Given the description of an element on the screen output the (x, y) to click on. 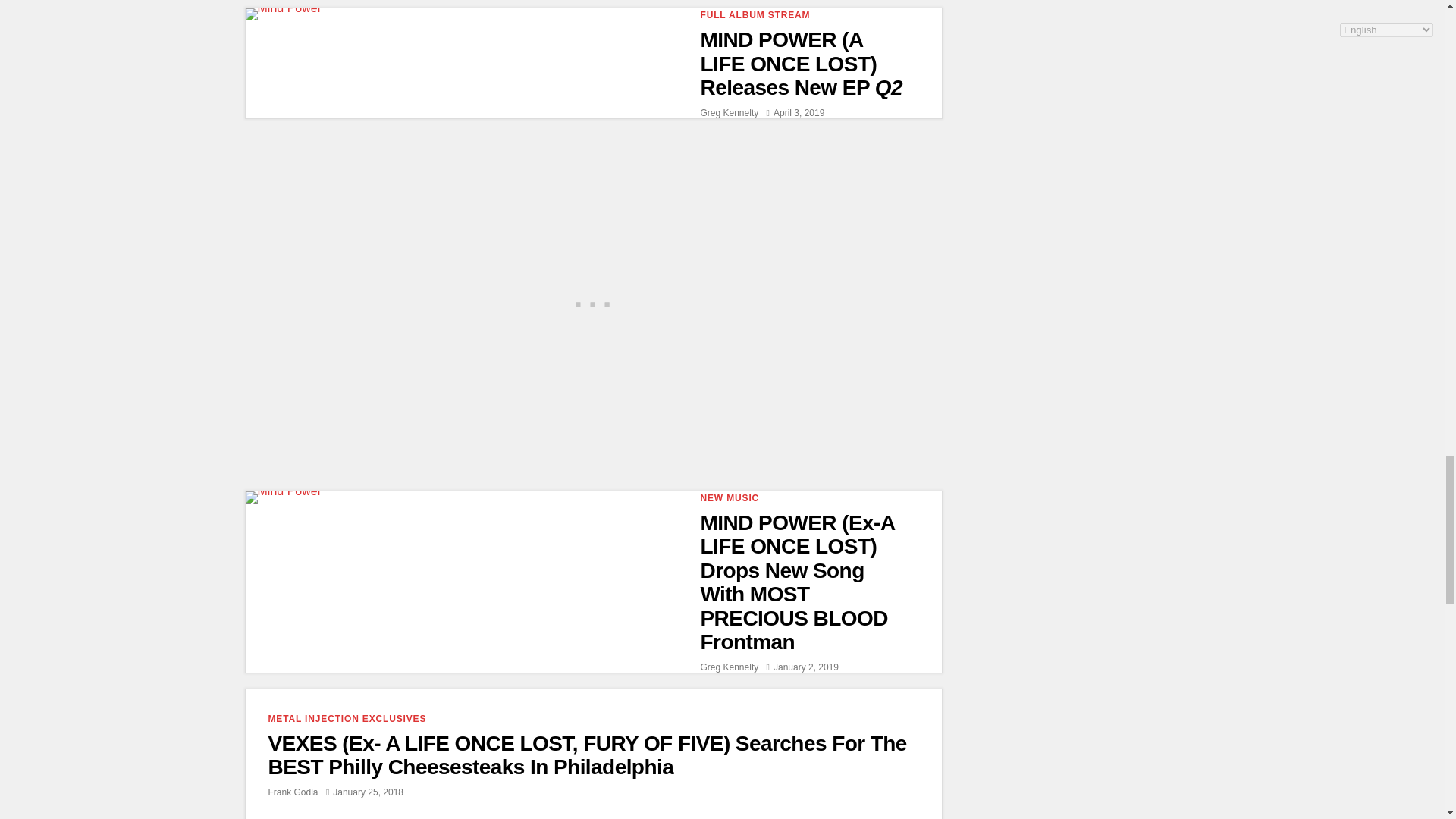
Posts by Frank Godla (292, 792)
Posts by Greg Kennelty (729, 666)
Posts by Greg Kennelty (729, 112)
